Given the description of an element on the screen output the (x, y) to click on. 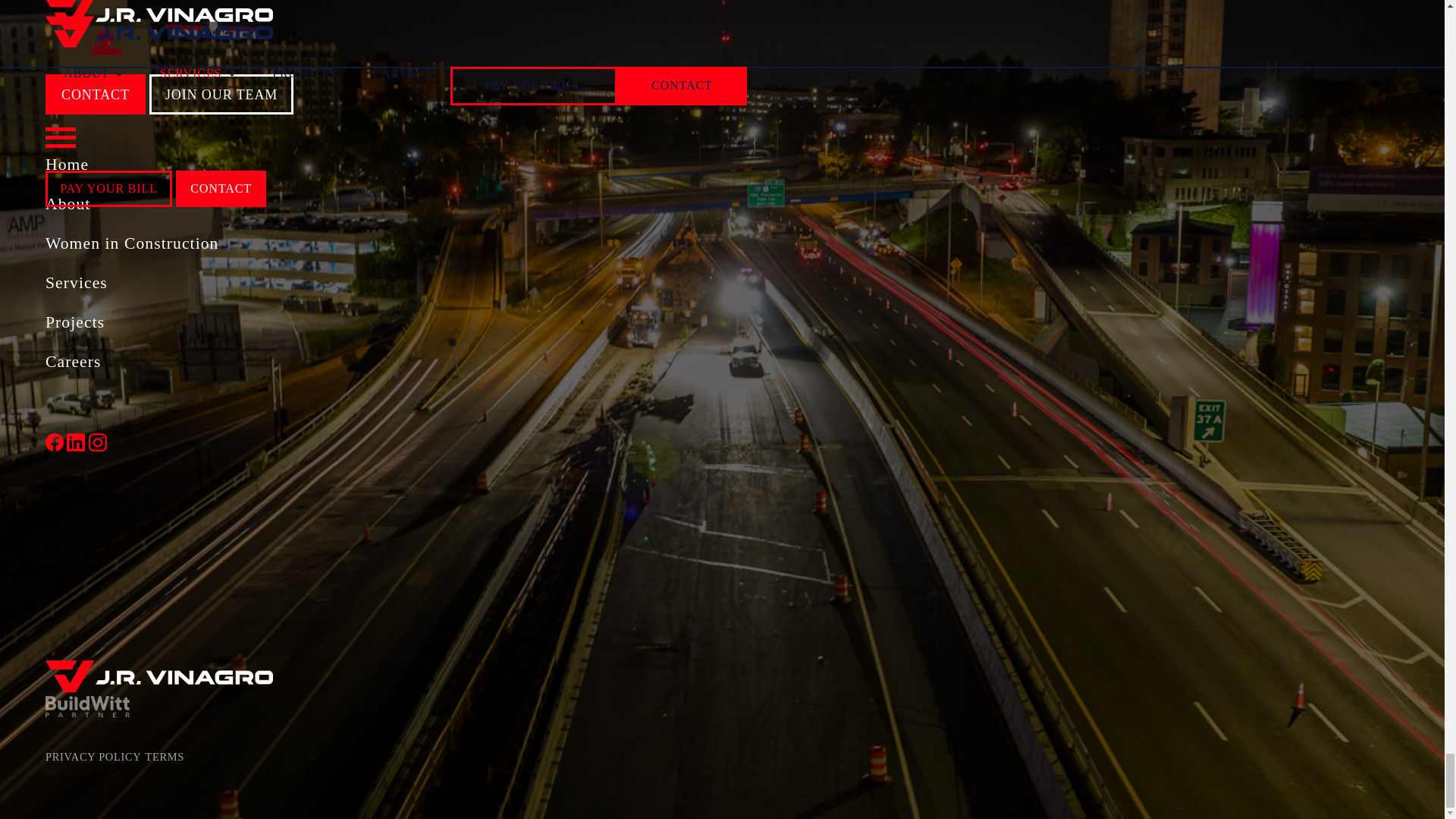
Careers (617, 361)
CONTACT (95, 94)
Women in Construction (617, 243)
Services (617, 282)
Projects (617, 322)
JOIN OUR TEAM (221, 94)
Home (617, 164)
About (617, 203)
